Given the description of an element on the screen output the (x, y) to click on. 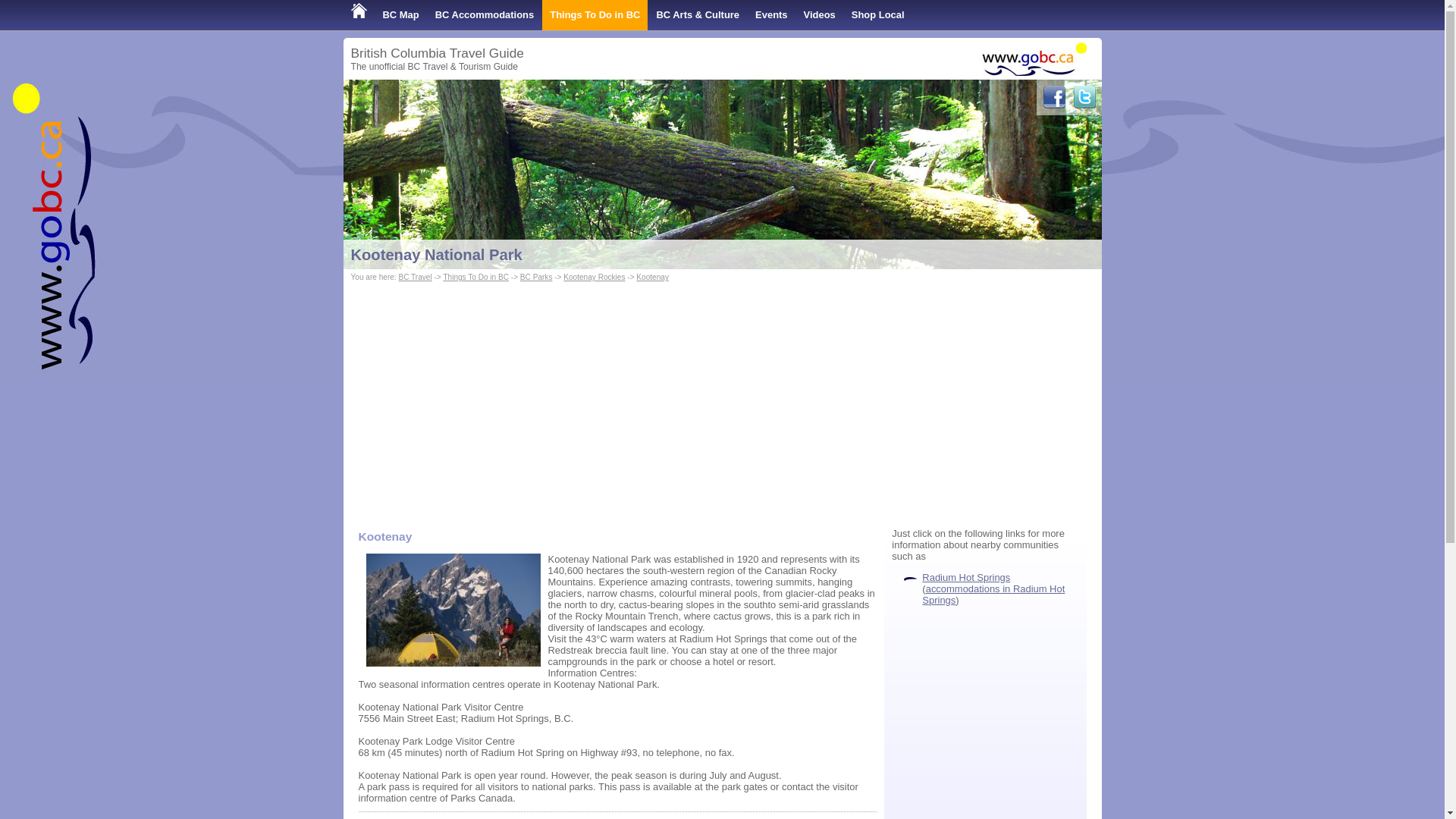
BC Accommodations (484, 15)
Radium Hot Springs (965, 577)
Events (771, 15)
Kootenay (652, 276)
Shop Local (878, 15)
Videos (819, 15)
Things To Do in BC (594, 15)
accommodations in Radium Hot Springs (992, 594)
accommodations in Radium Hot Springs (992, 594)
